Given the description of an element on the screen output the (x, y) to click on. 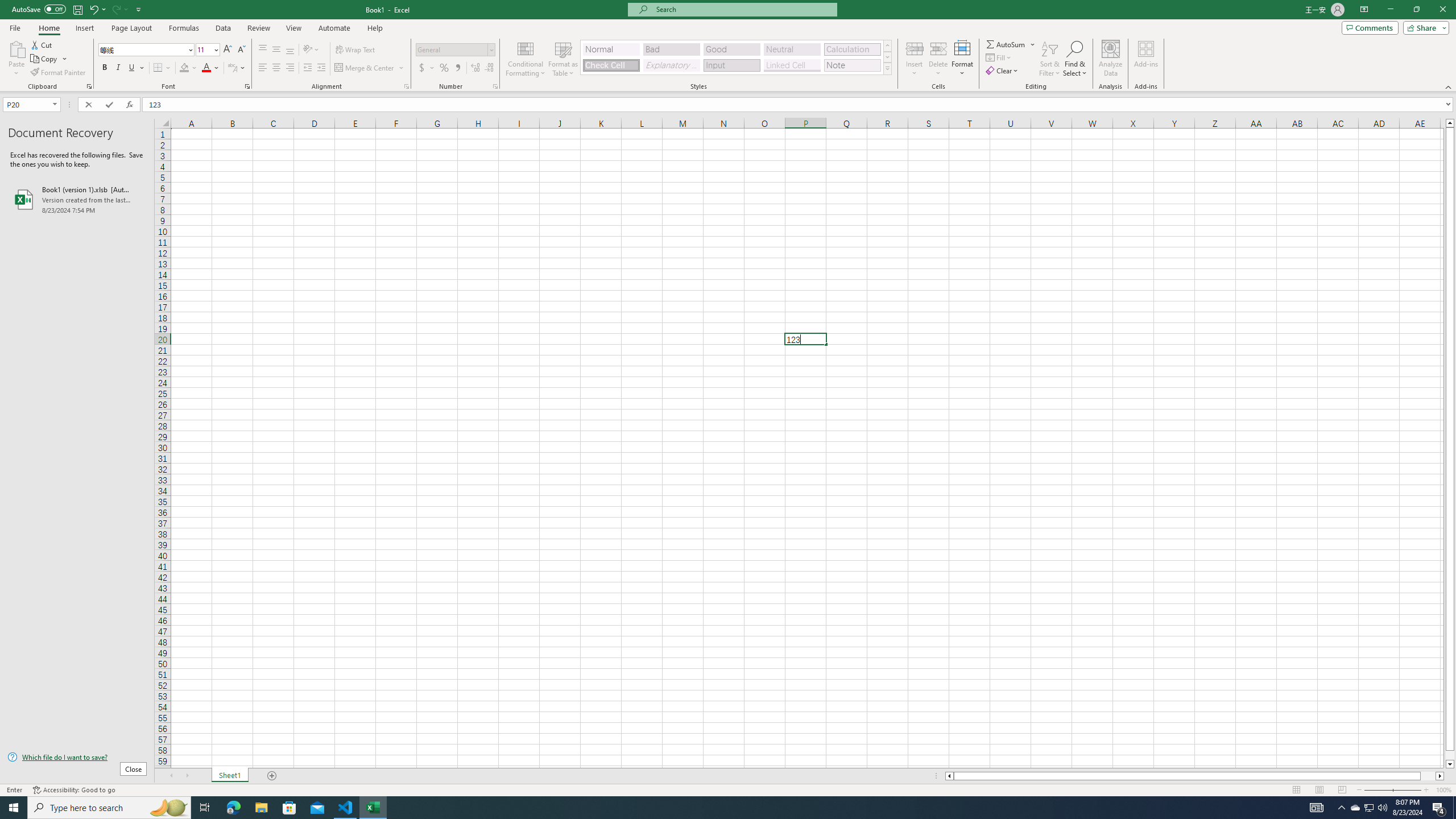
Edit Cell (805, 339)
Percent Style (443, 67)
Increase Font Size (227, 49)
Decrease Font Size (240, 49)
Merge & Center (369, 67)
Show Phonetic Field (236, 67)
Copy (45, 58)
Neutral (791, 49)
